Given the description of an element on the screen output the (x, y) to click on. 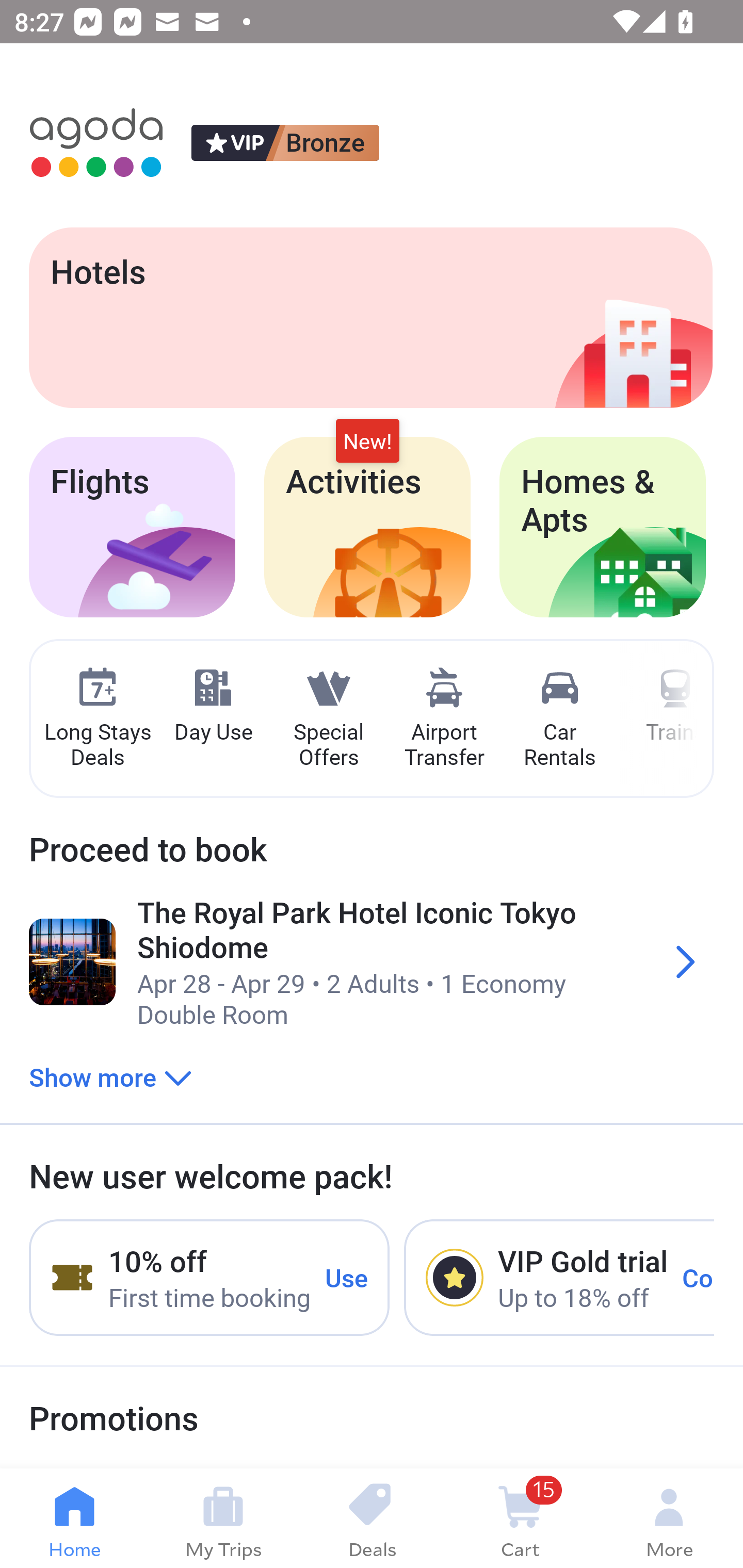
Hotels (370, 317)
New! (367, 441)
Flights (131, 527)
Activities (367, 527)
Homes & Apts (602, 527)
Day Use (213, 706)
Long Stays Deals (97, 718)
Special Offers (328, 718)
Airport Transfer (444, 718)
Car Rentals (559, 718)
Show more (110, 1076)
Use (346, 1277)
Home (74, 1518)
My Trips (222, 1518)
Deals (371, 1518)
15 Cart (519, 1518)
More (668, 1518)
